Given the description of an element on the screen output the (x, y) to click on. 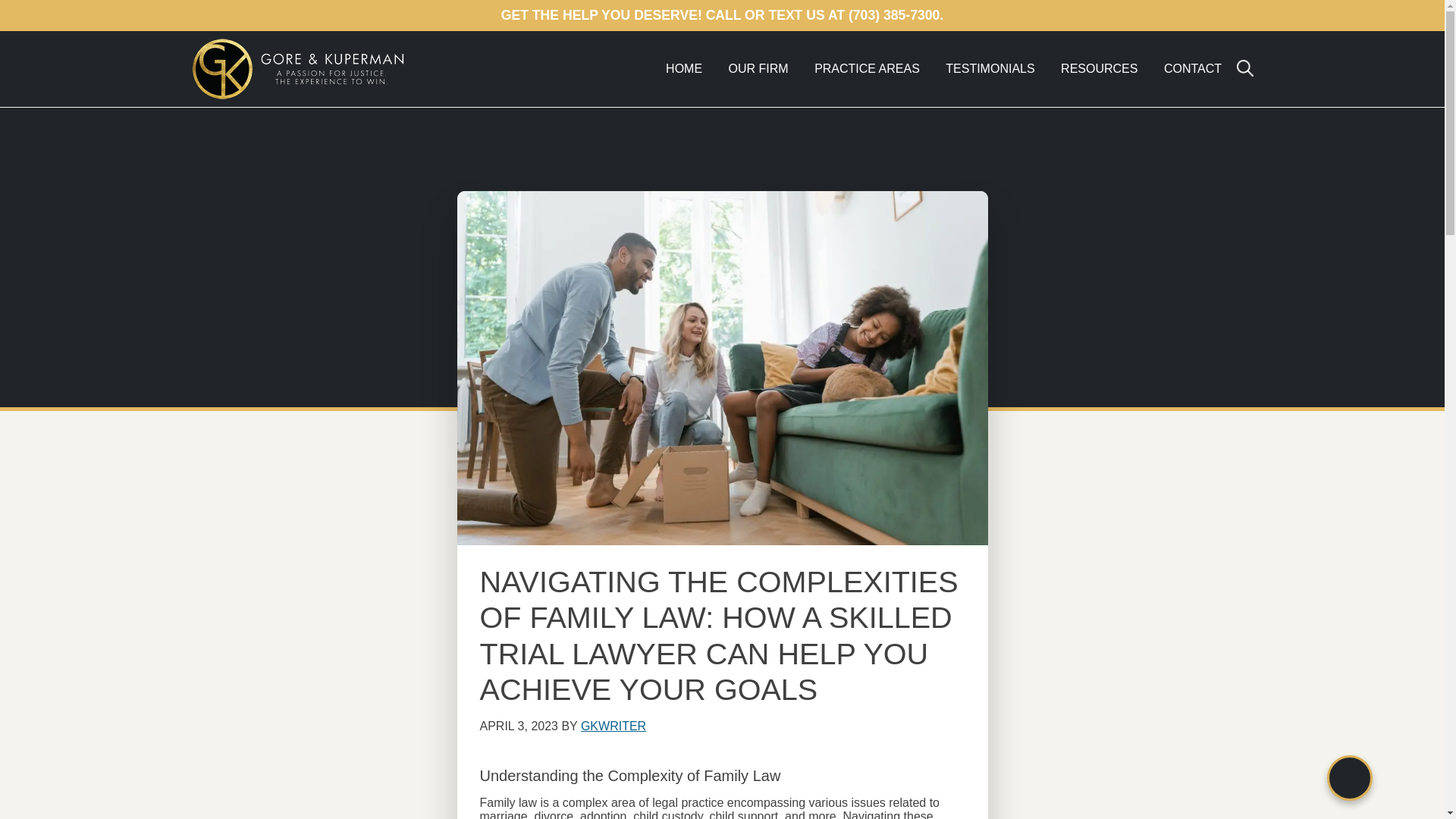
HOME (683, 68)
GKWRITER (613, 725)
CONTACT (1193, 68)
TESTIMONIALS (989, 68)
PRACTICE AREAS (867, 68)
RESOURCES (1098, 68)
OUR FIRM (758, 68)
